Given the description of an element on the screen output the (x, y) to click on. 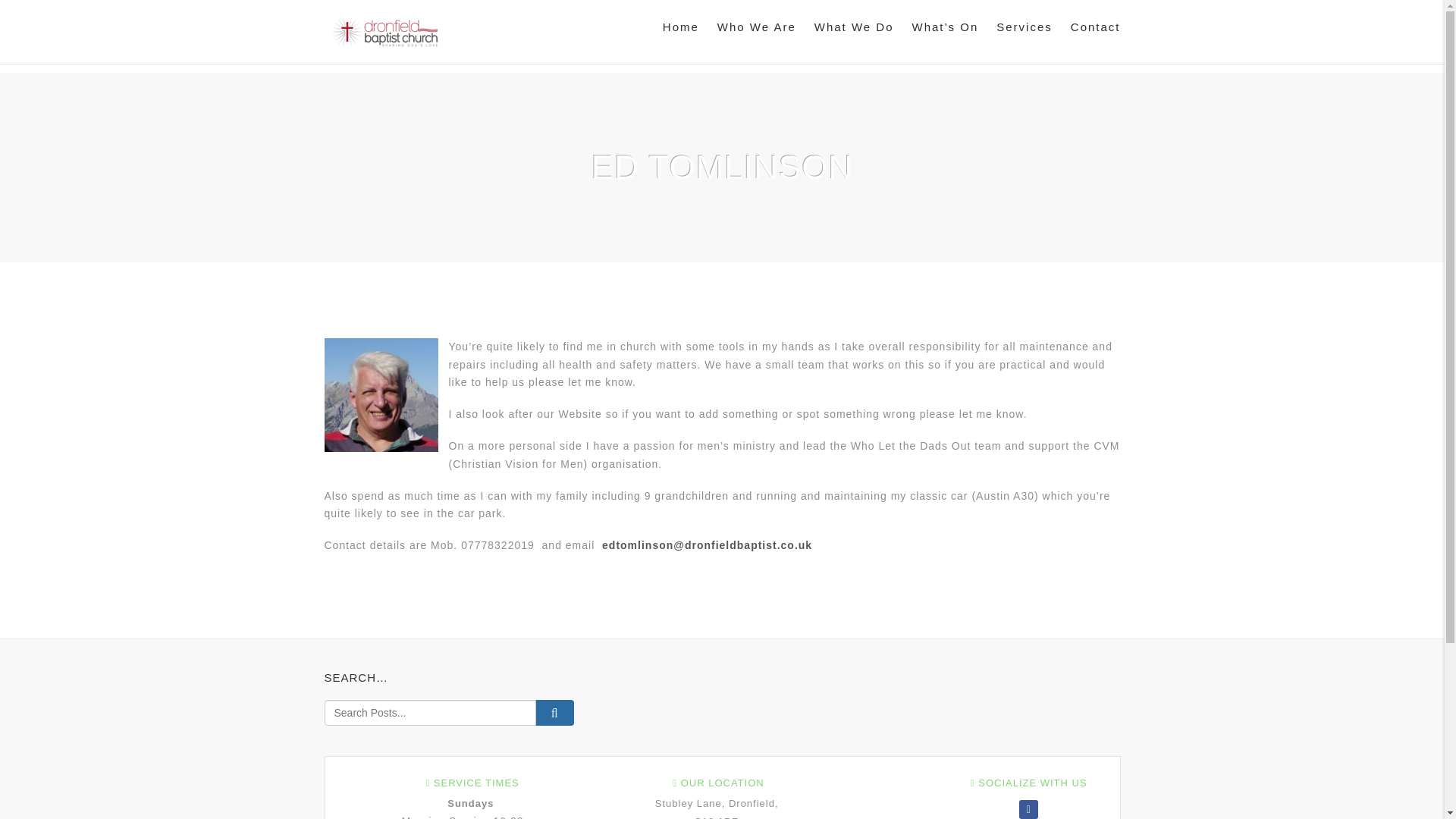
Services (1024, 27)
Who We Are (756, 27)
Logo (384, 31)
Contact (1091, 27)
What We Do (853, 27)
Home (680, 27)
